Given the description of an element on the screen output the (x, y) to click on. 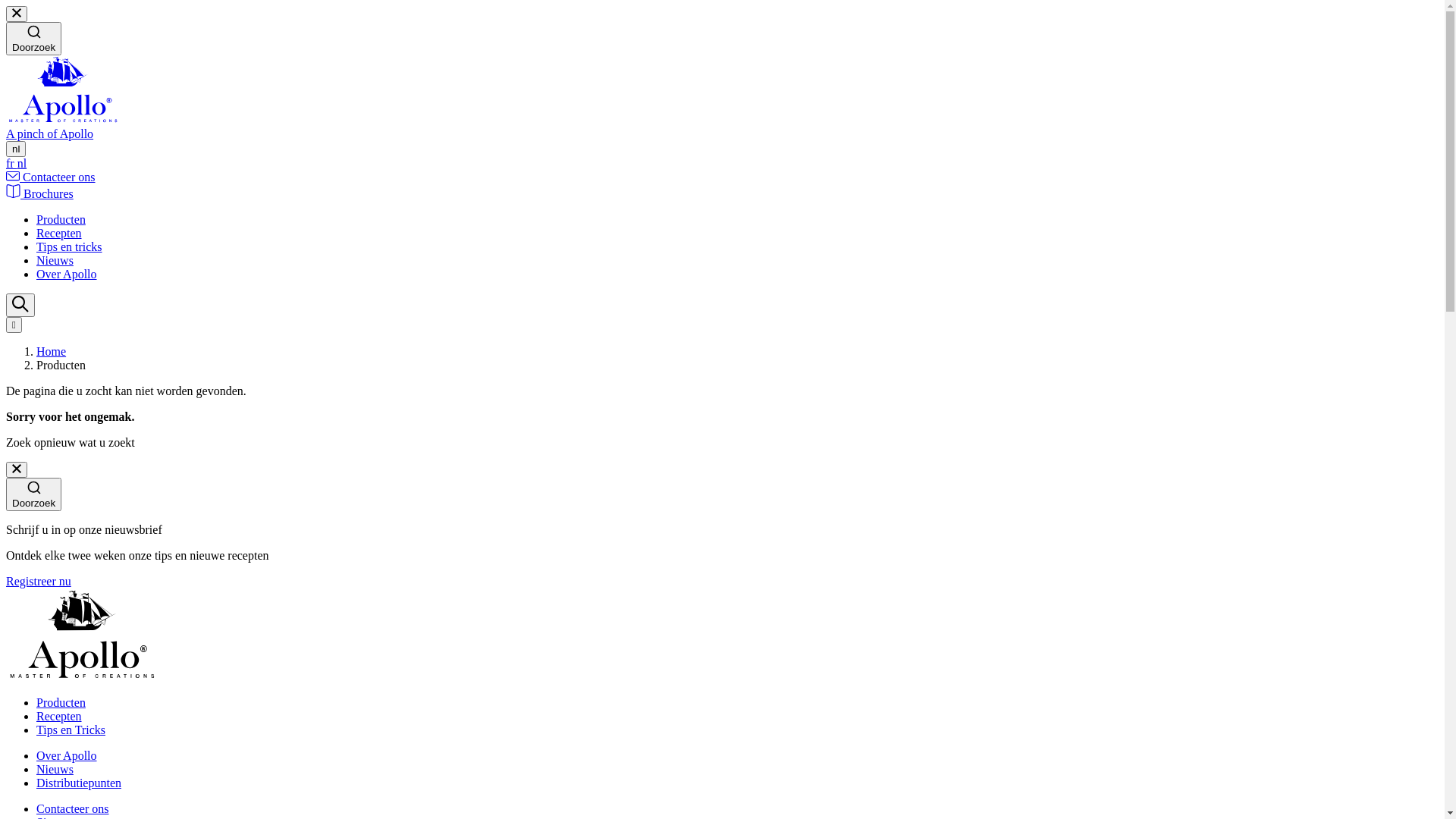
Recepten Element type: text (58, 715)
Doorzoek Element type: text (33, 494)
Nieuws Element type: text (54, 260)
Home Element type: text (50, 351)
nl Element type: text (21, 162)
Over Apollo Element type: text (66, 273)
Producten Element type: text (60, 219)
Over Apollo Element type: text (66, 755)
Recepten Element type: text (58, 232)
Distributiepunten Element type: text (78, 782)
A pinch of Apollo Element type: text (722, 127)
Tips en tricks Element type: text (69, 246)
Registreer nu Element type: text (38, 580)
Nieuws Element type: text (54, 768)
fr Element type: text (11, 162)
Brochures Element type: text (39, 193)
Contacteer ons Element type: text (72, 808)
Doorzoek Element type: text (33, 38)
Producten Element type: text (60, 702)
Tips en Tricks Element type: text (70, 729)
nl Element type: text (15, 148)
Contacteer ons Element type: text (50, 176)
